Given the description of an element on the screen output the (x, y) to click on. 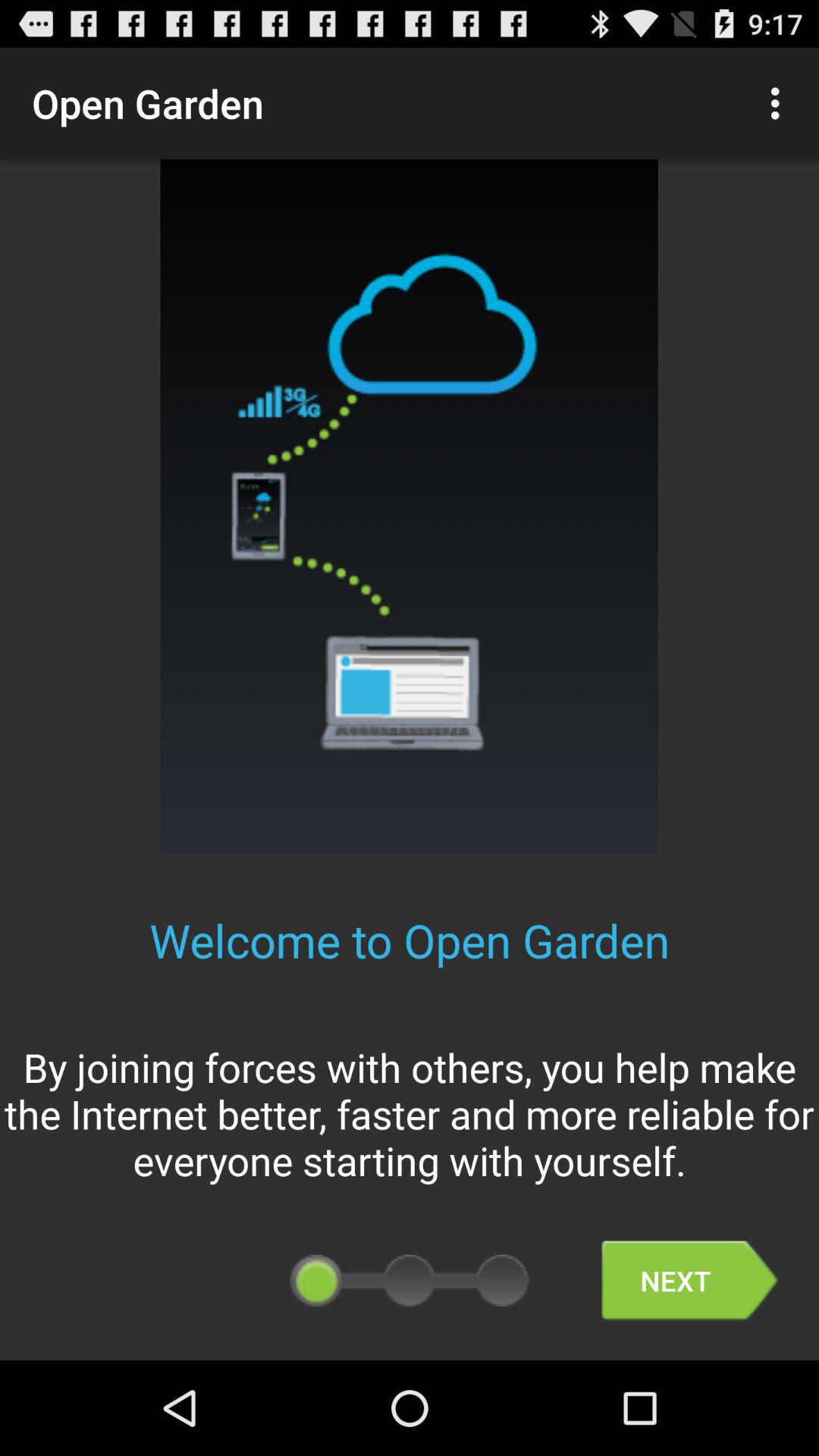
scroll until the next icon (689, 1280)
